Given the description of an element on the screen output the (x, y) to click on. 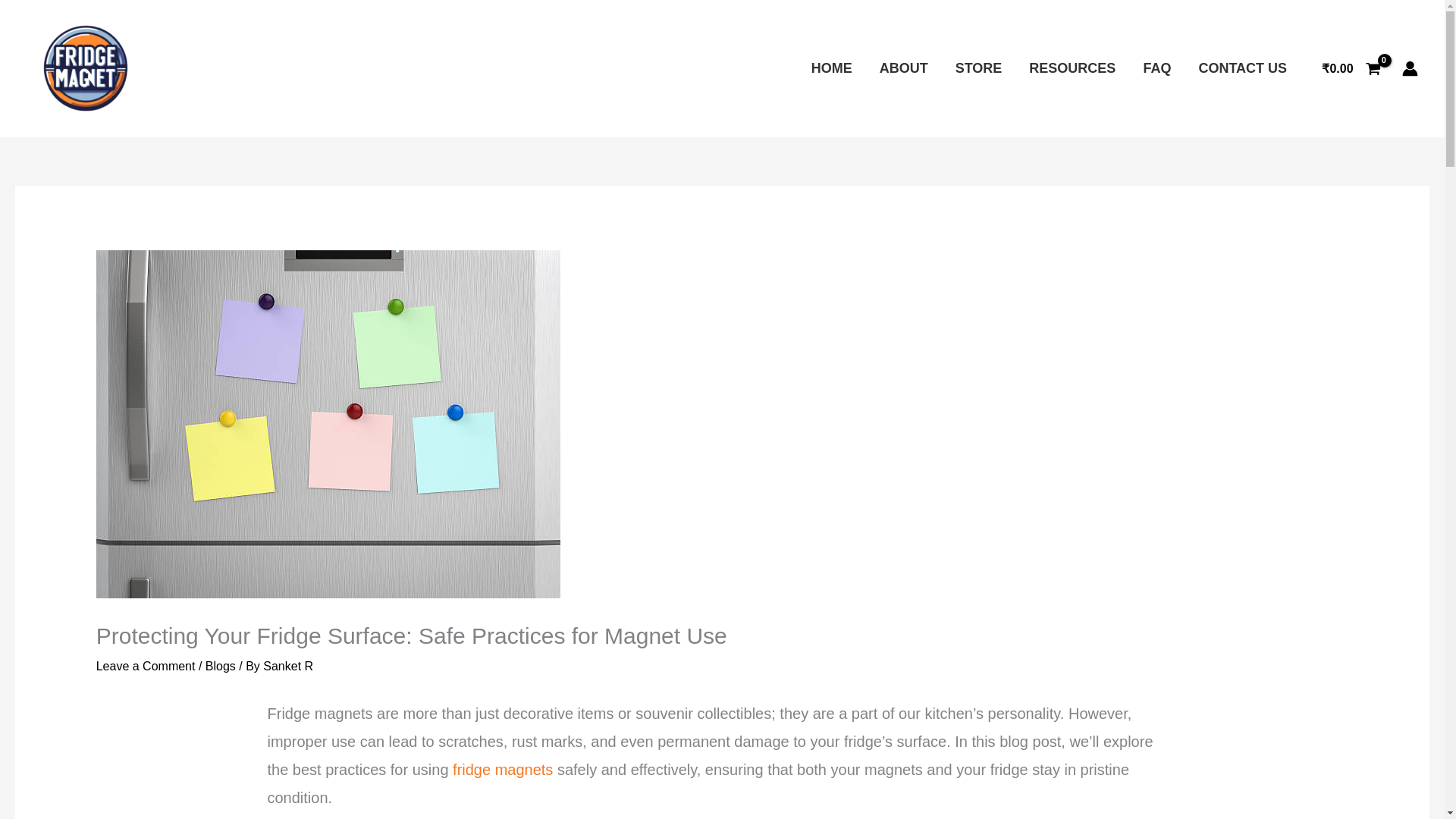
Blogs (220, 666)
View all posts by Sanket R (288, 666)
STORE (979, 68)
Sanket R (288, 666)
RESOURCES (1071, 68)
FAQ (1157, 68)
HOME (831, 68)
ABOUT (904, 68)
Leave a Comment (145, 666)
CONTACT US (1242, 68)
